Given the description of an element on the screen output the (x, y) to click on. 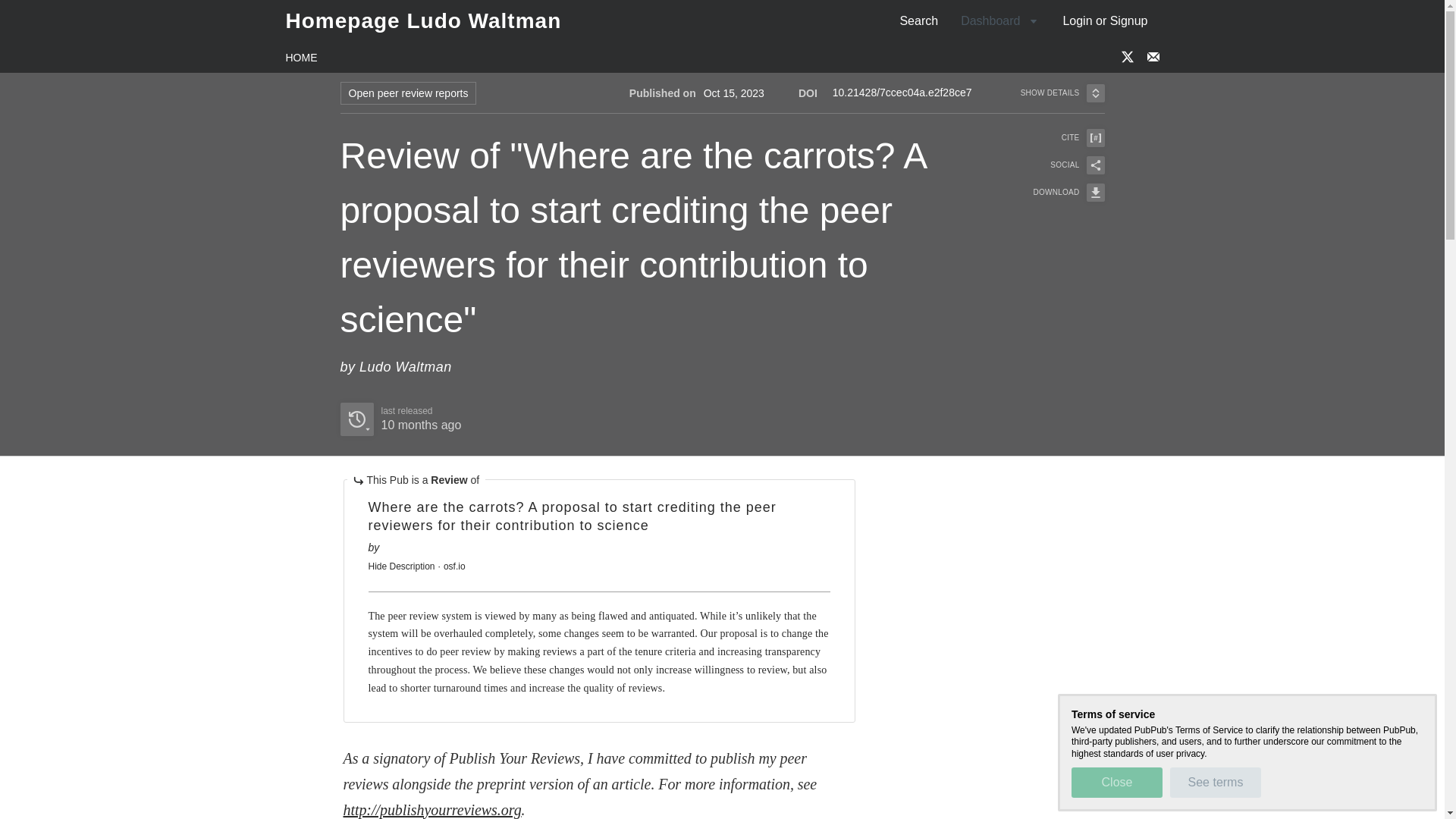
Open peer review reports (407, 92)
Homepage Ludo Waltman (422, 20)
Ludo Waltman (405, 366)
Login or Signup (1104, 20)
2023-10-15 10:25 (420, 424)
HOME (301, 57)
DOWNLOAD (1058, 192)
CITE (400, 418)
Close (1058, 137)
SOCIAL (1116, 782)
HOME (1058, 165)
Search (696, 82)
SHOW DETAILS (918, 20)
See terms (1062, 93)
